Given the description of an element on the screen output the (x, y) to click on. 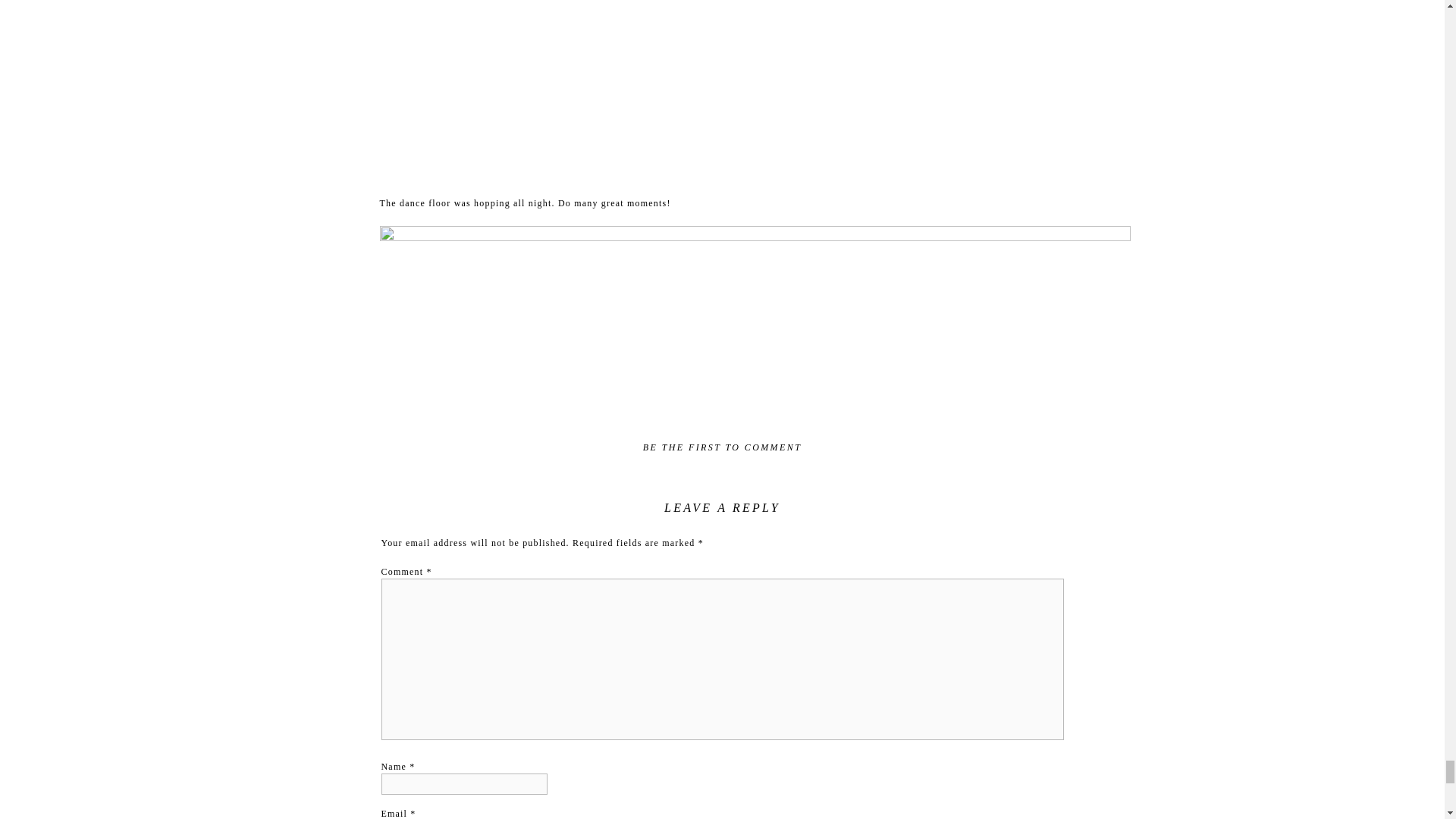
BE THE FIRST TO COMMENT (722, 447)
